Given the description of an element on the screen output the (x, y) to click on. 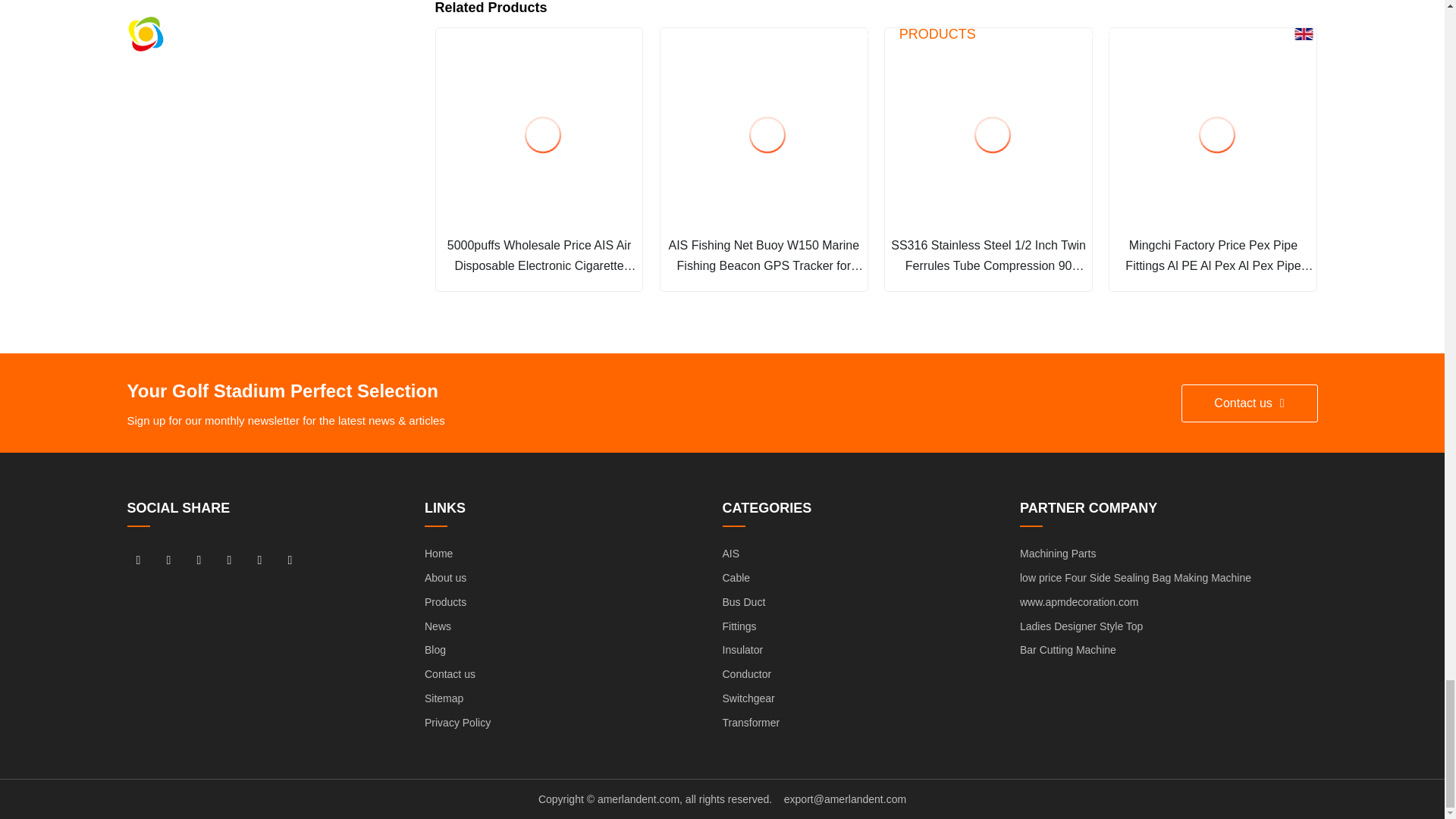
facebook (138, 558)
youtube (229, 558)
twitter (199, 558)
linkedin (168, 558)
